Given the description of an element on the screen output the (x, y) to click on. 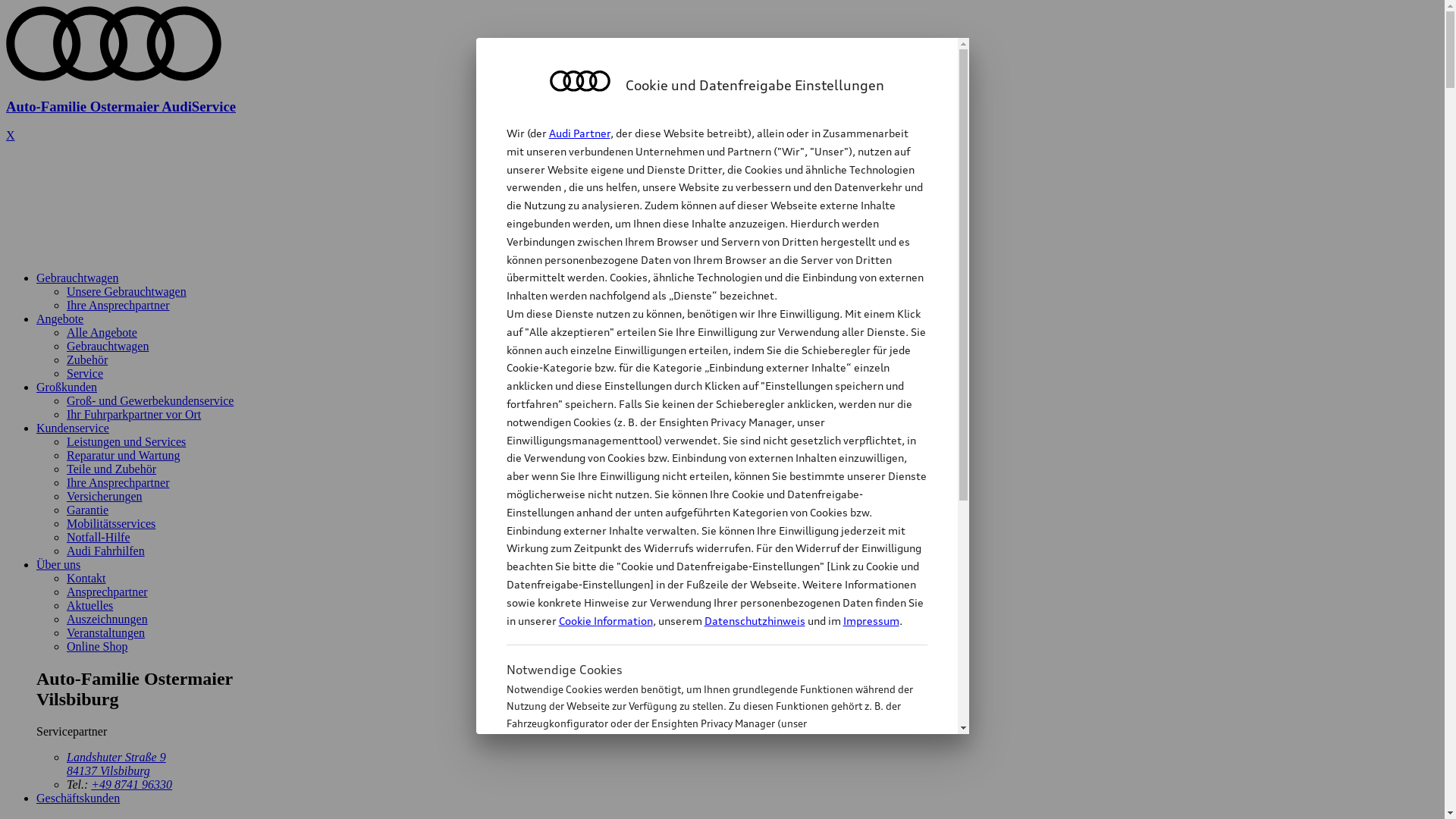
Gebrauchtwagen Element type: text (77, 277)
Gebrauchtwagen Element type: text (107, 345)
Veranstaltungen Element type: text (105, 632)
Auto-Familie Ostermaier AudiService Element type: text (722, 92)
Service Element type: text (84, 373)
Leistungen und Services Element type: text (125, 441)
Angebote Element type: text (59, 318)
Impressum Element type: text (871, 620)
Cookie Information Element type: text (700, 798)
Ihre Ansprechpartner Element type: text (117, 482)
Ihr Fuhrparkpartner vor Ort Element type: text (133, 413)
Versicherungen Element type: text (104, 495)
Ansprechpartner Element type: text (106, 591)
Kontakt Element type: text (86, 577)
Cookie Information Element type: text (605, 620)
Notfall-Hilfe Element type: text (98, 536)
Unsere Gebrauchtwagen Element type: text (126, 291)
Reparatur und Wartung Element type: text (122, 454)
+49 8741 96330 Element type: text (131, 784)
Kundenservice Element type: text (72, 427)
Audi Fahrhilfen Element type: text (105, 550)
X Element type: text (10, 134)
Alle Angebote Element type: text (101, 332)
Garantie Element type: text (87, 509)
Aktuelles Element type: text (89, 605)
Auszeichnungen Element type: text (106, 618)
Online Shop Element type: text (96, 646)
Datenschutzhinweis Element type: text (753, 620)
Ihre Ansprechpartner Element type: text (117, 304)
Audi Partner Element type: text (579, 132)
